Given the description of an element on the screen output the (x, y) to click on. 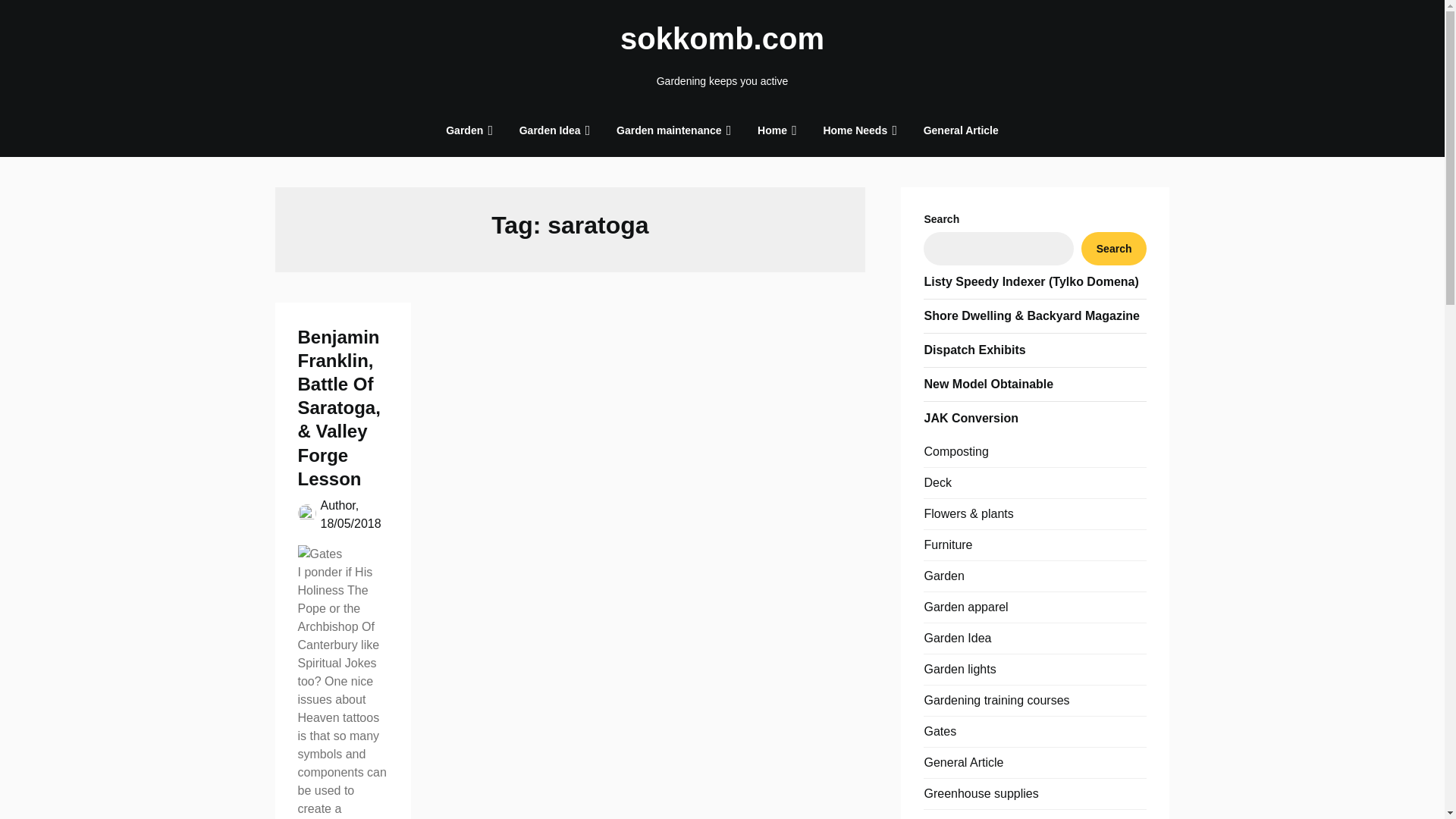
Garden (464, 130)
Garden Idea (549, 130)
Garden maintenance (668, 130)
General Article (960, 130)
Home (772, 130)
New Model Obtainable (987, 383)
Search (1114, 248)
sokkomb.com (722, 38)
Dispatch Exhibits (974, 349)
Home Needs (854, 130)
